Given the description of an element on the screen output the (x, y) to click on. 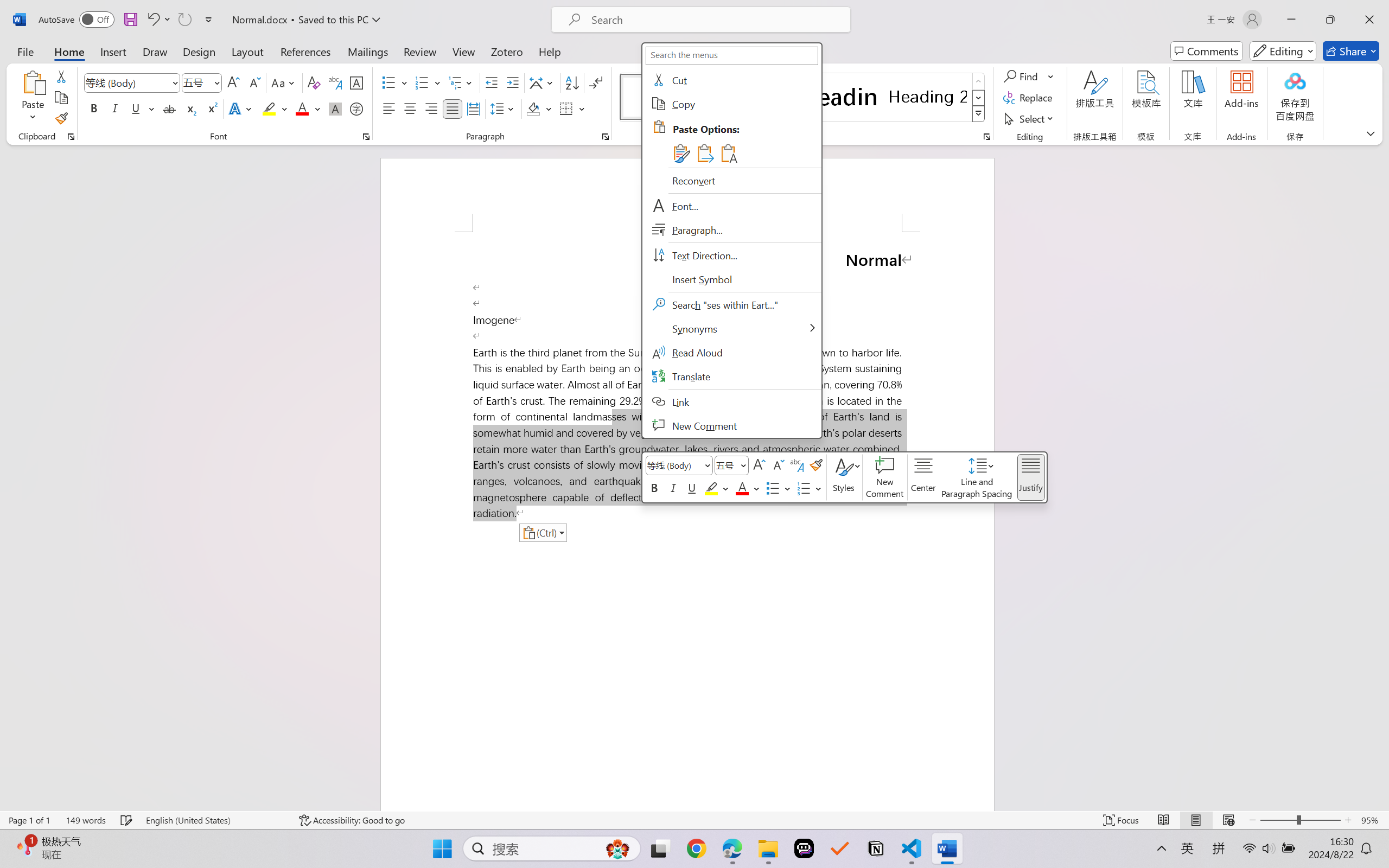
Shading RGB(0, 0, 0) (533, 108)
Distributed (473, 108)
Cut (60, 75)
Translate (730, 376)
Clear Formatting (313, 82)
Text Effects and Typography (241, 108)
Align Right (431, 108)
